Given the description of an element on the screen output the (x, y) to click on. 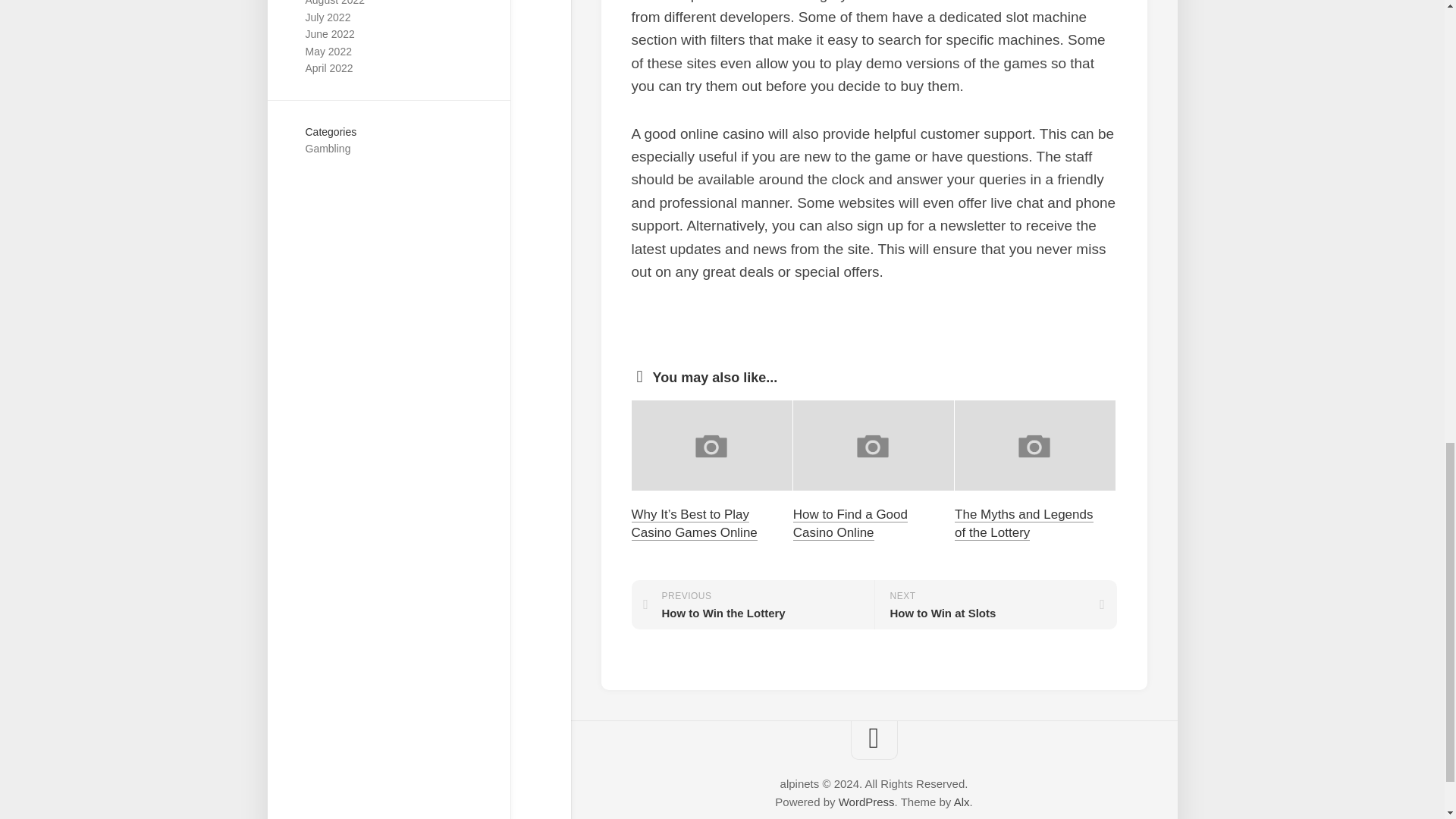
Gambling (327, 148)
June 2022 (328, 33)
August 2022 (334, 2)
July 2022 (327, 17)
April 2022 (328, 68)
May 2022 (327, 51)
